Given the description of an element on the screen output the (x, y) to click on. 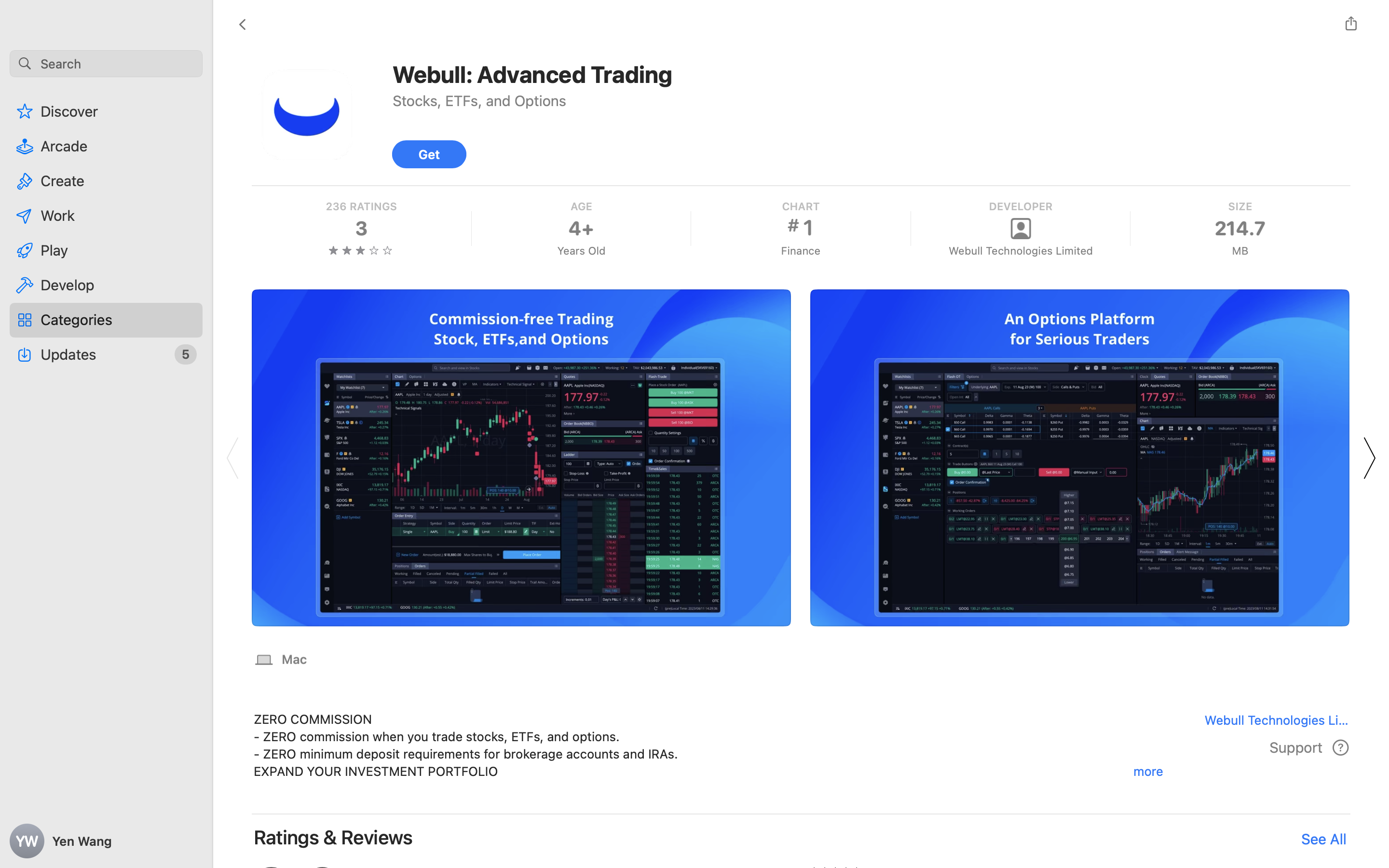
236 RATINGS Element type: AXStaticText (361, 206)
Finance, CHART, 1 Element type: AXStaticText (799, 228)
CHART Element type: AXStaticText (799, 206)
​￼￼Mac Element type: AXStaticText (280, 658)
